Given the description of an element on the screen output the (x, y) to click on. 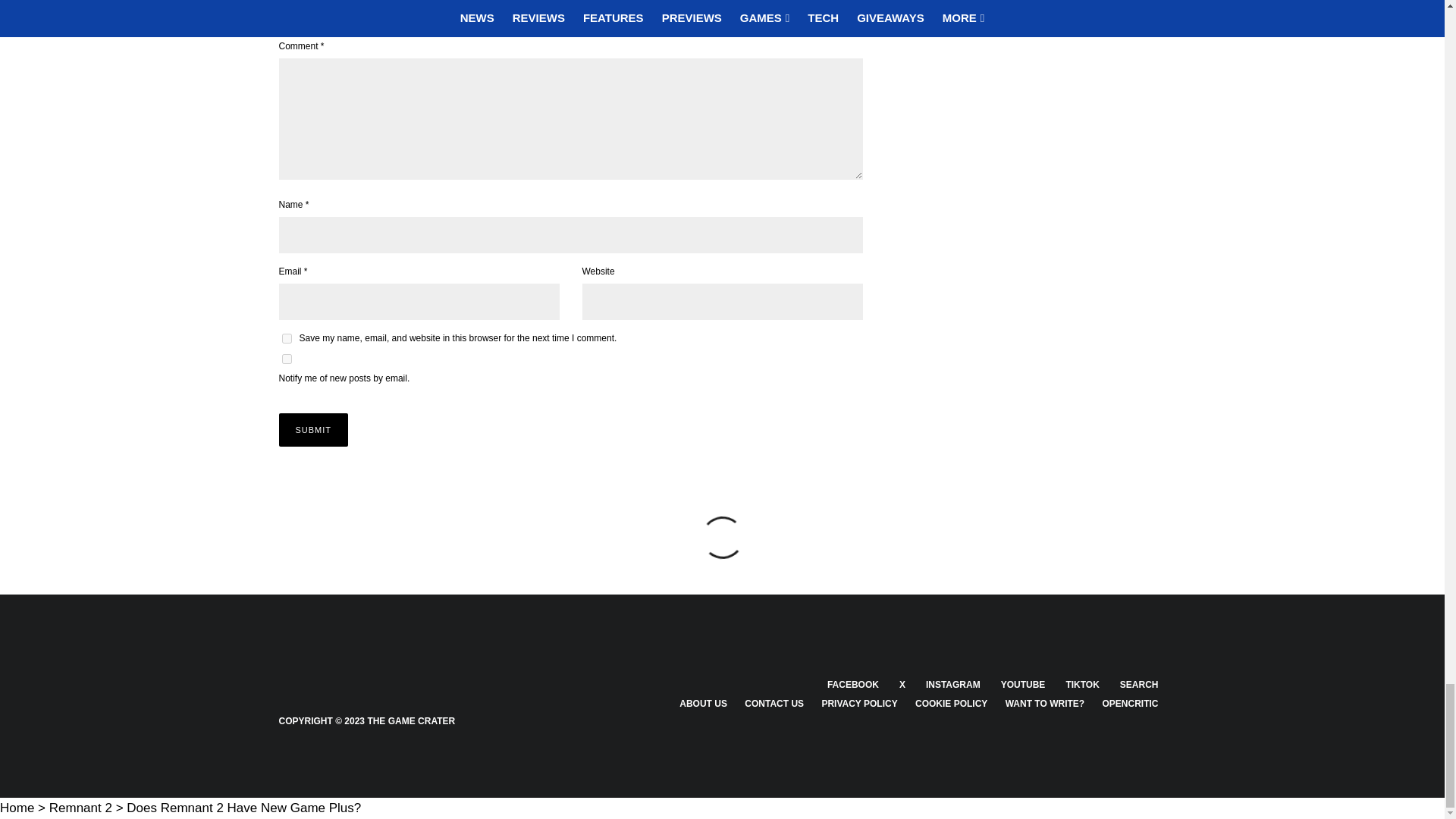
subscribe (287, 358)
yes (287, 338)
Submit (314, 429)
